Given the description of an element on the screen output the (x, y) to click on. 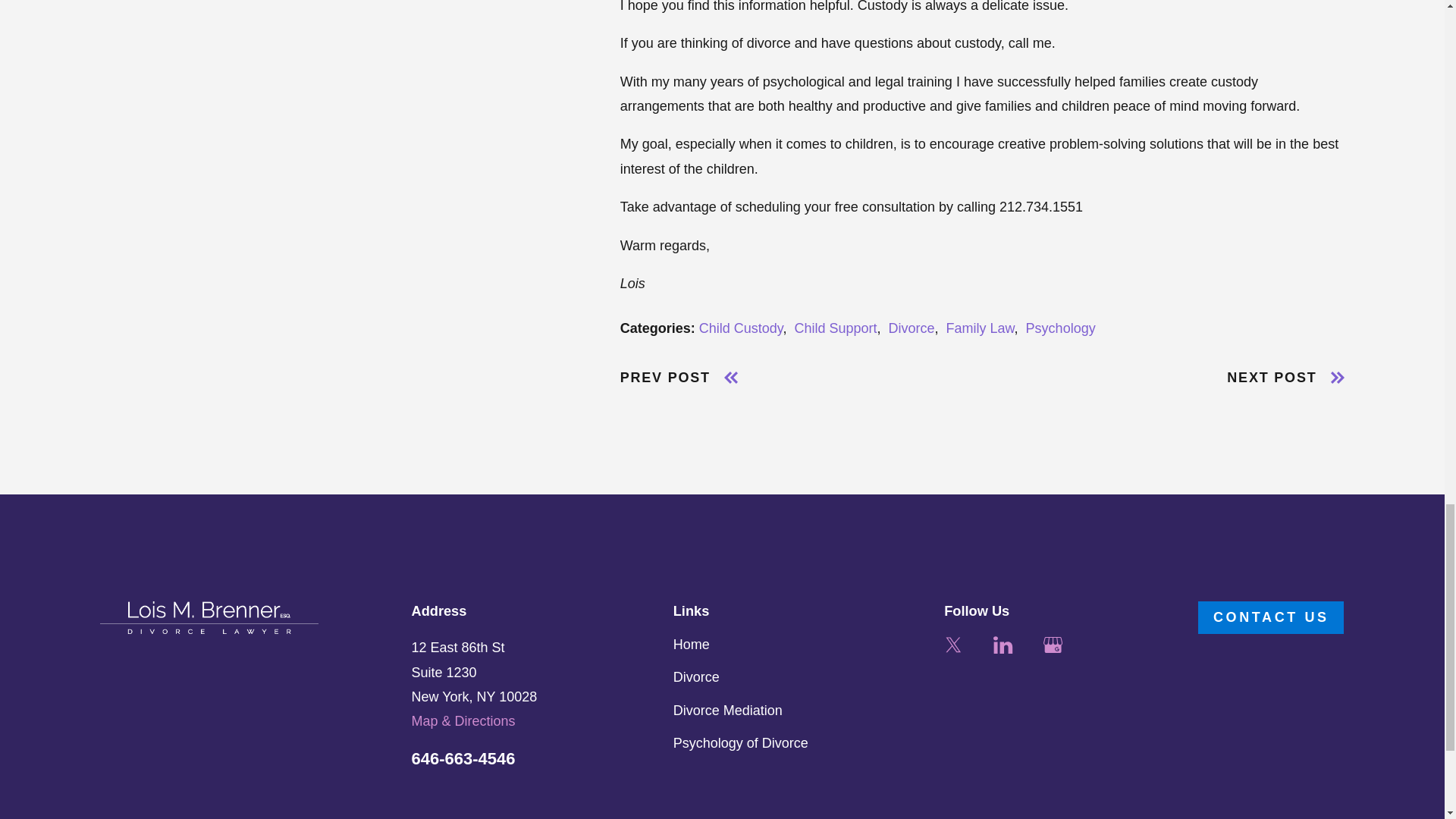
Google Business Profile (1052, 644)
LinkedIn (1001, 644)
Twitter (952, 644)
Home (209, 617)
